Given the description of an element on the screen output the (x, y) to click on. 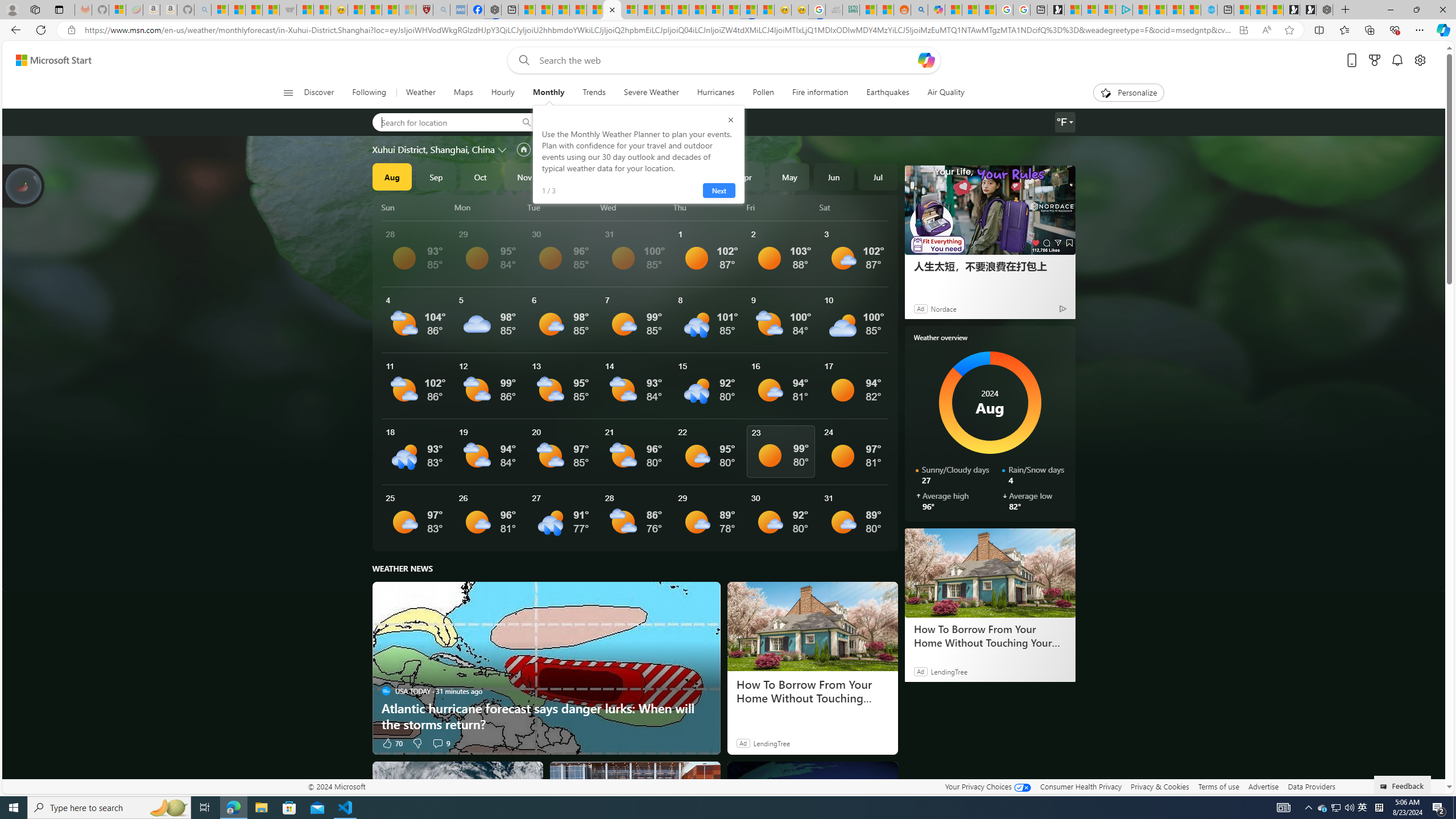
Consumer Health Privacy (1080, 785)
Join us in planting real trees to help our planet! (23, 185)
Jun (833, 176)
Thu (707, 207)
Class: feedback_link_icon-DS-EntryPoint1-1 (1384, 786)
